Given the description of an element on the screen output the (x, y) to click on. 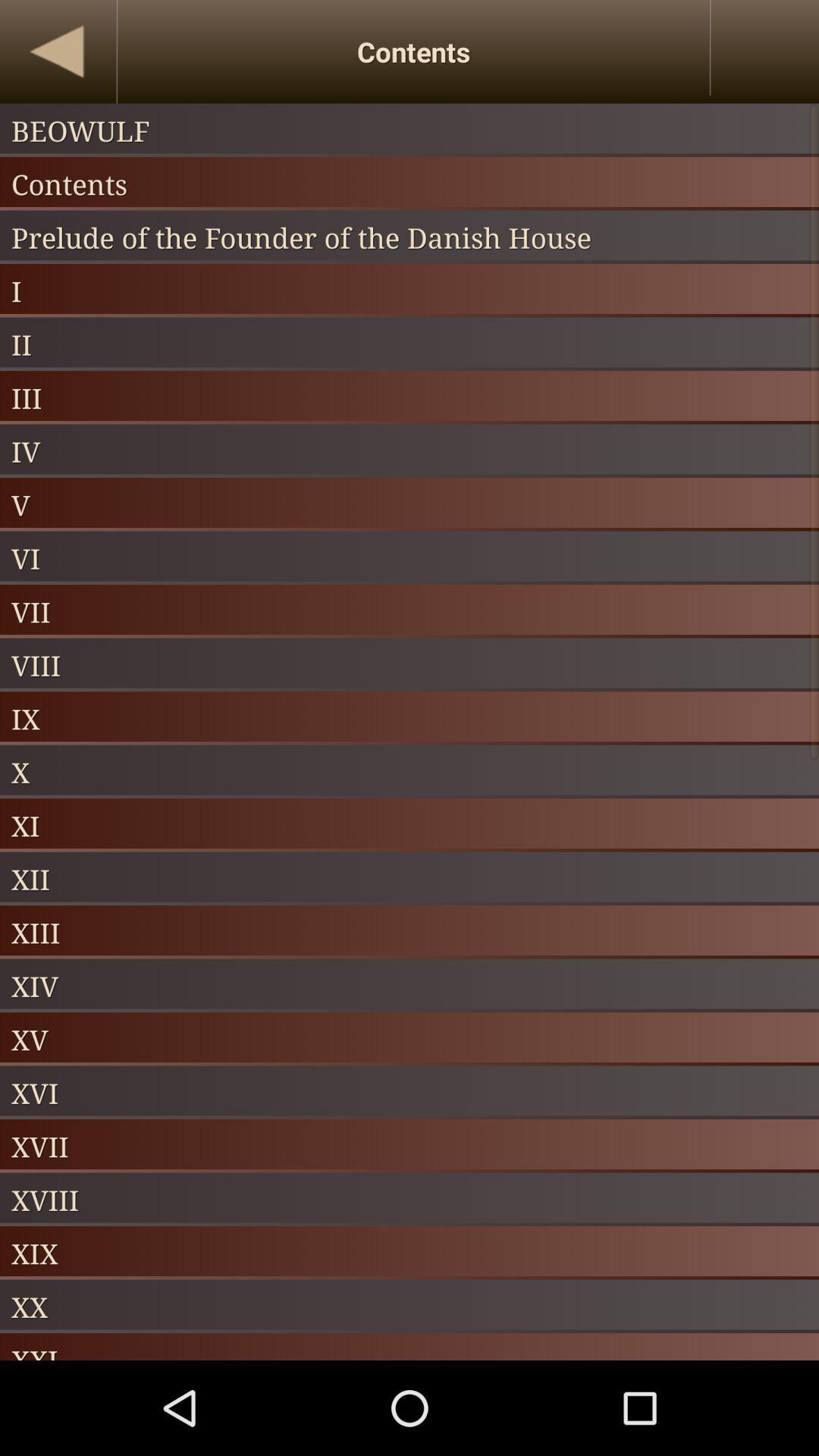
swipe to iv (409, 451)
